Given the description of an element on the screen output the (x, y) to click on. 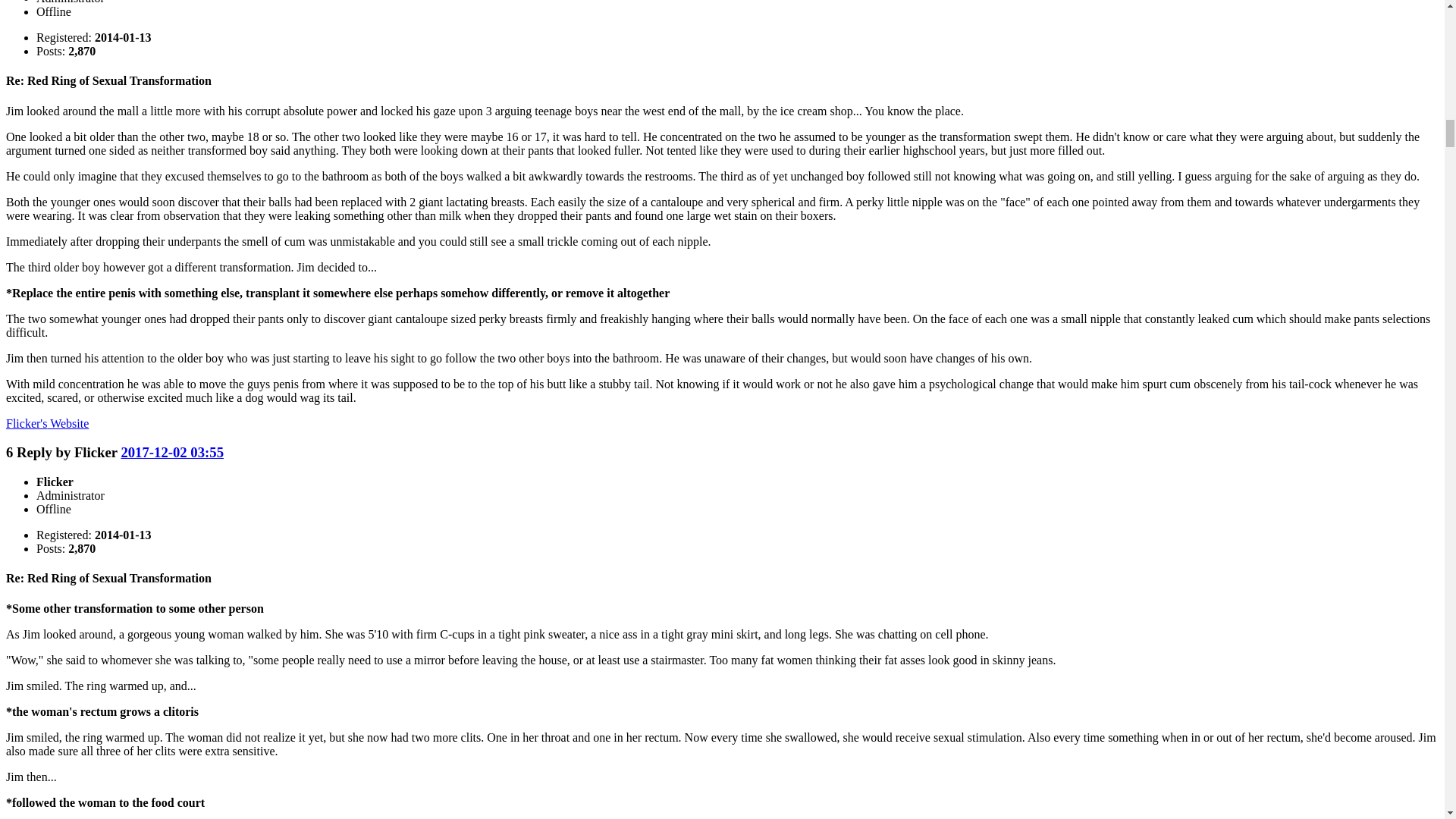
2017-12-02 03:55 (172, 452)
Flicker's Website (46, 422)
Permanent link to this post (172, 452)
